Given the description of an element on the screen output the (x, y) to click on. 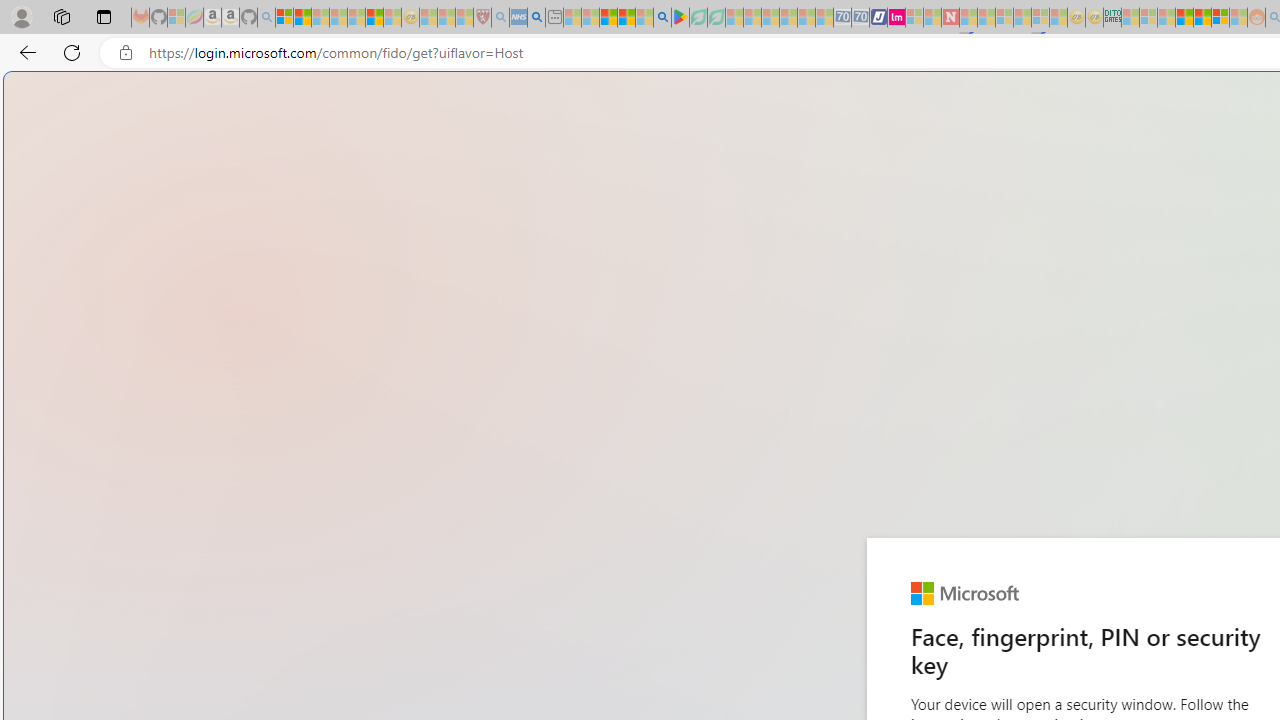
Microsoft (964, 593)
google - Search (662, 17)
Expert Portfolios (1184, 17)
14 Common Myths Debunked By Scientific Facts - Sleeping (985, 17)
